Given the description of an element on the screen output the (x, y) to click on. 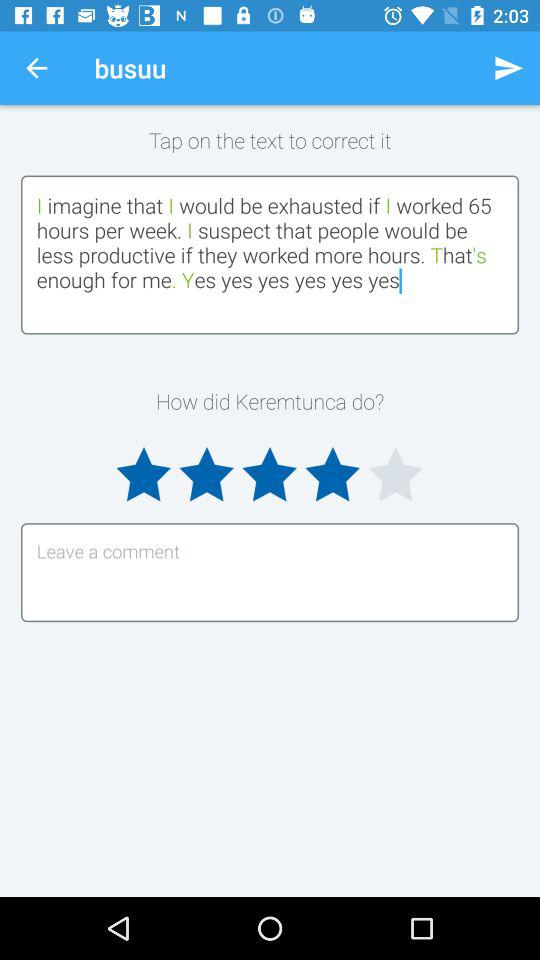
press the item above the tap on the (36, 68)
